Given the description of an element on the screen output the (x, y) to click on. 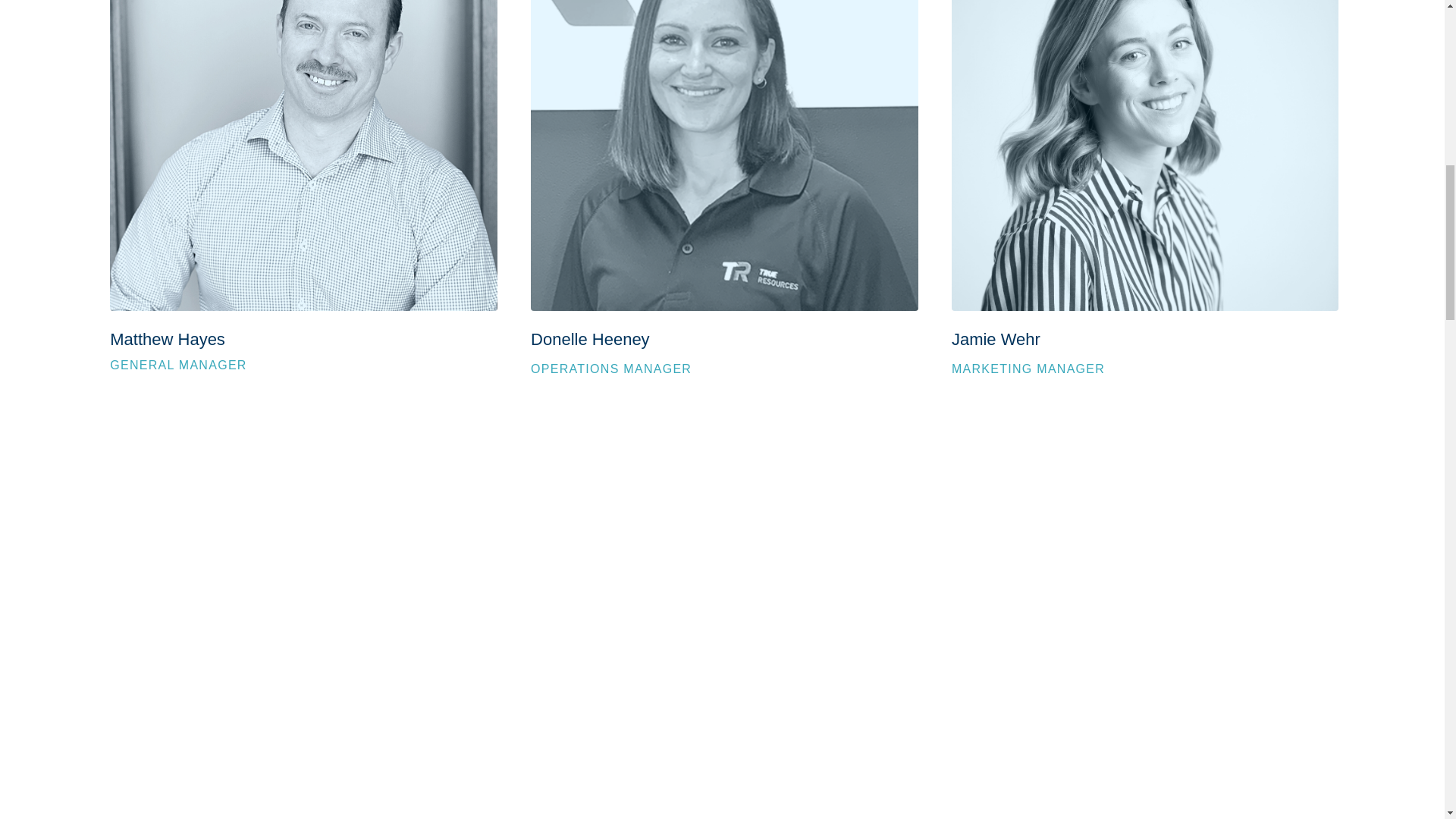
Jamie (1145, 155)
Matt (303, 155)
Caroline (724, 155)
